Given the description of an element on the screen output the (x, y) to click on. 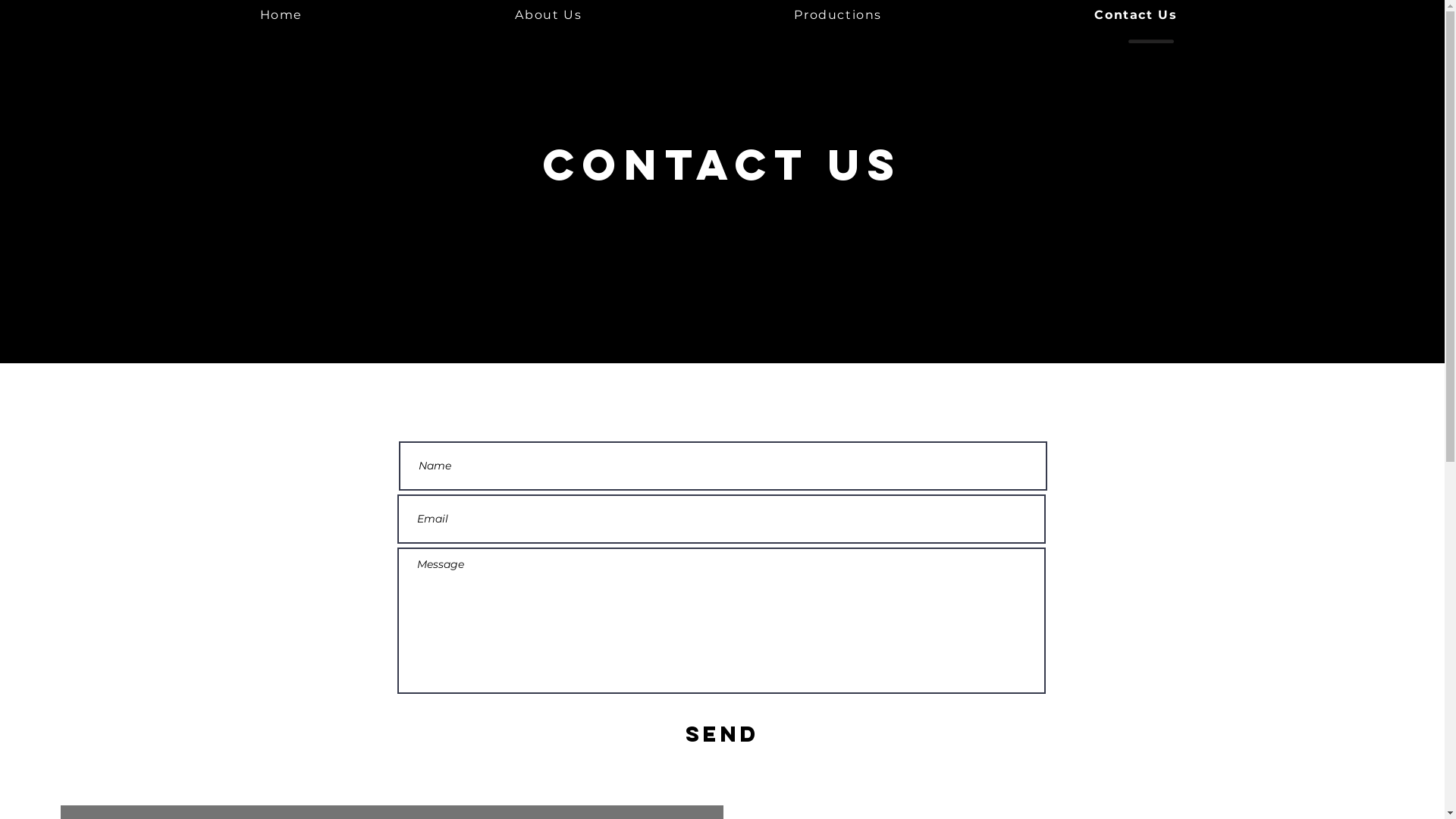
Home Element type: text (280, 14)
Contact Us Element type: text (1135, 14)
About Us Element type: text (547, 14)
Send Element type: text (722, 733)
